Given the description of an element on the screen output the (x, y) to click on. 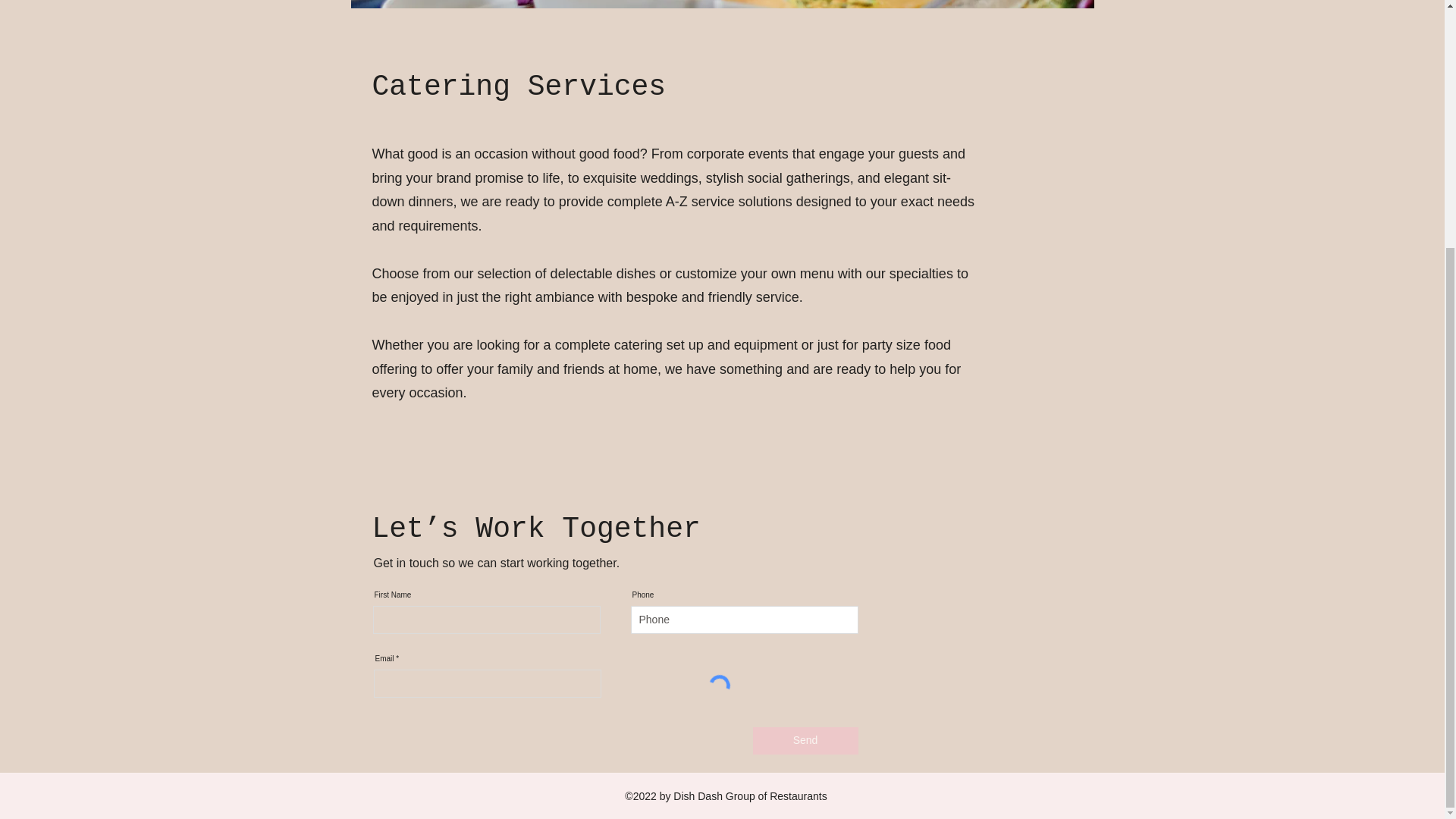
Send (804, 740)
